Given the description of an element on the screen output the (x, y) to click on. 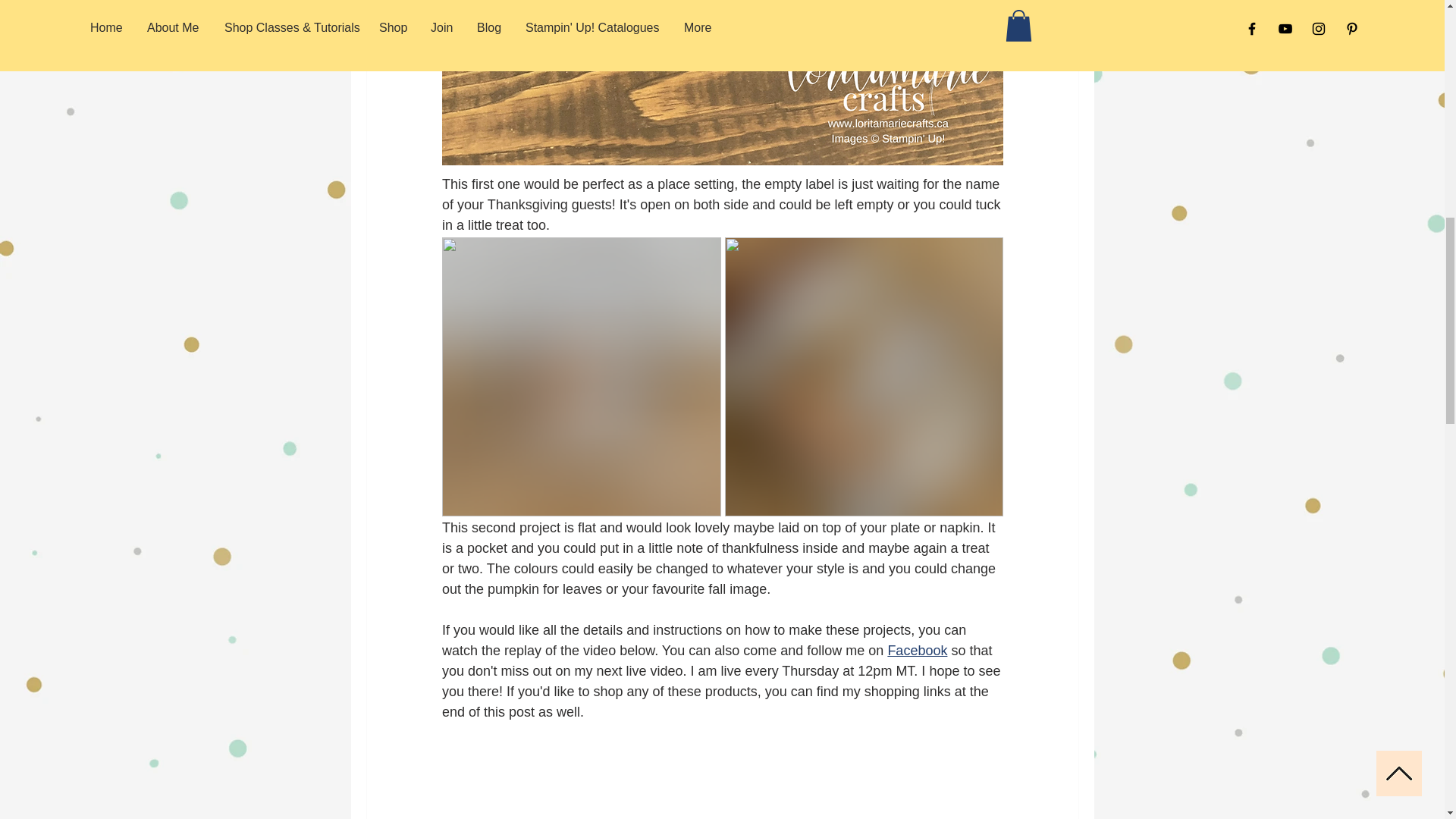
Facebook (916, 649)
